Given the description of an element on the screen output the (x, y) to click on. 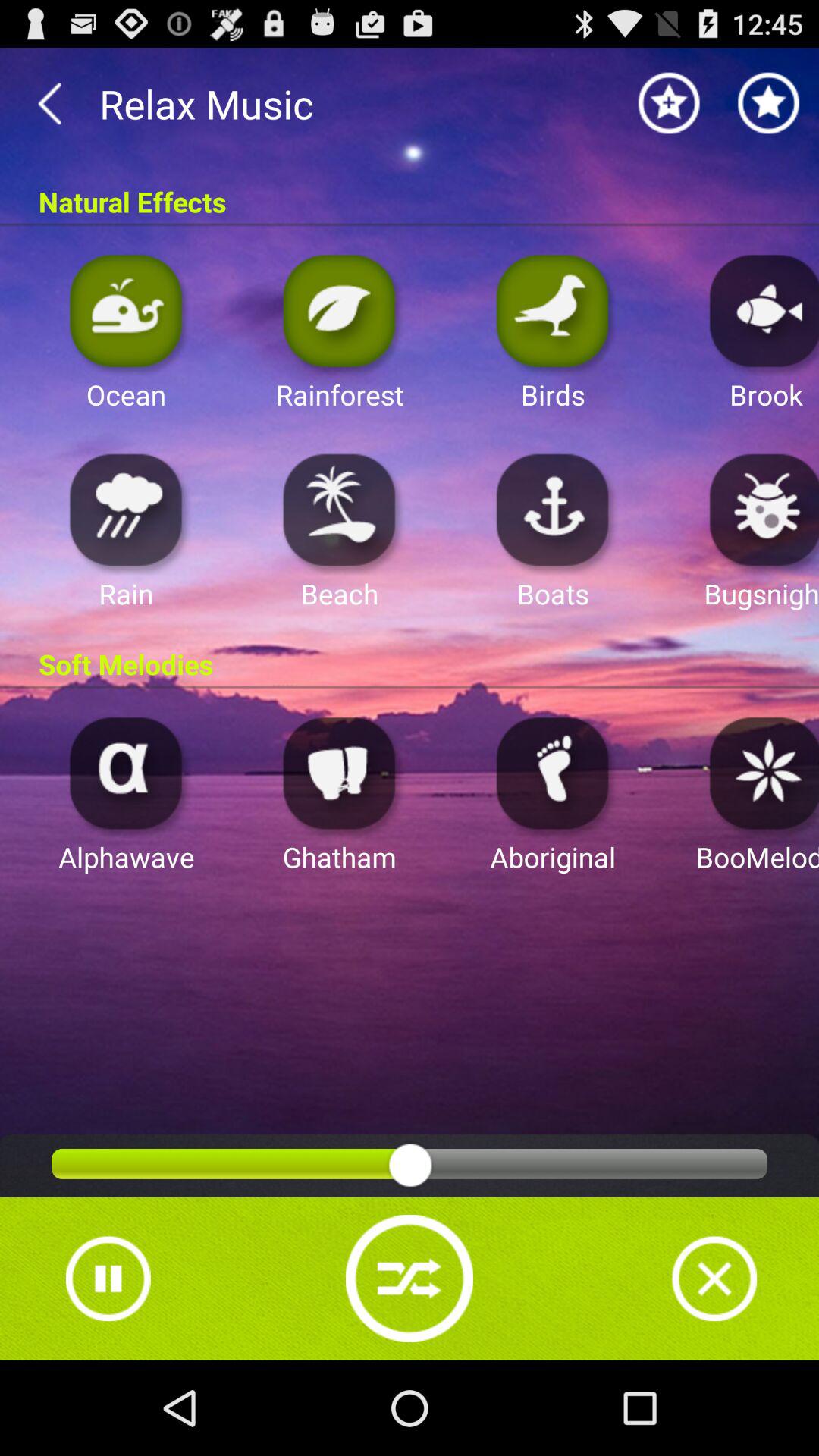
starts rain background noise (126, 509)
